Given the description of an element on the screen output the (x, y) to click on. 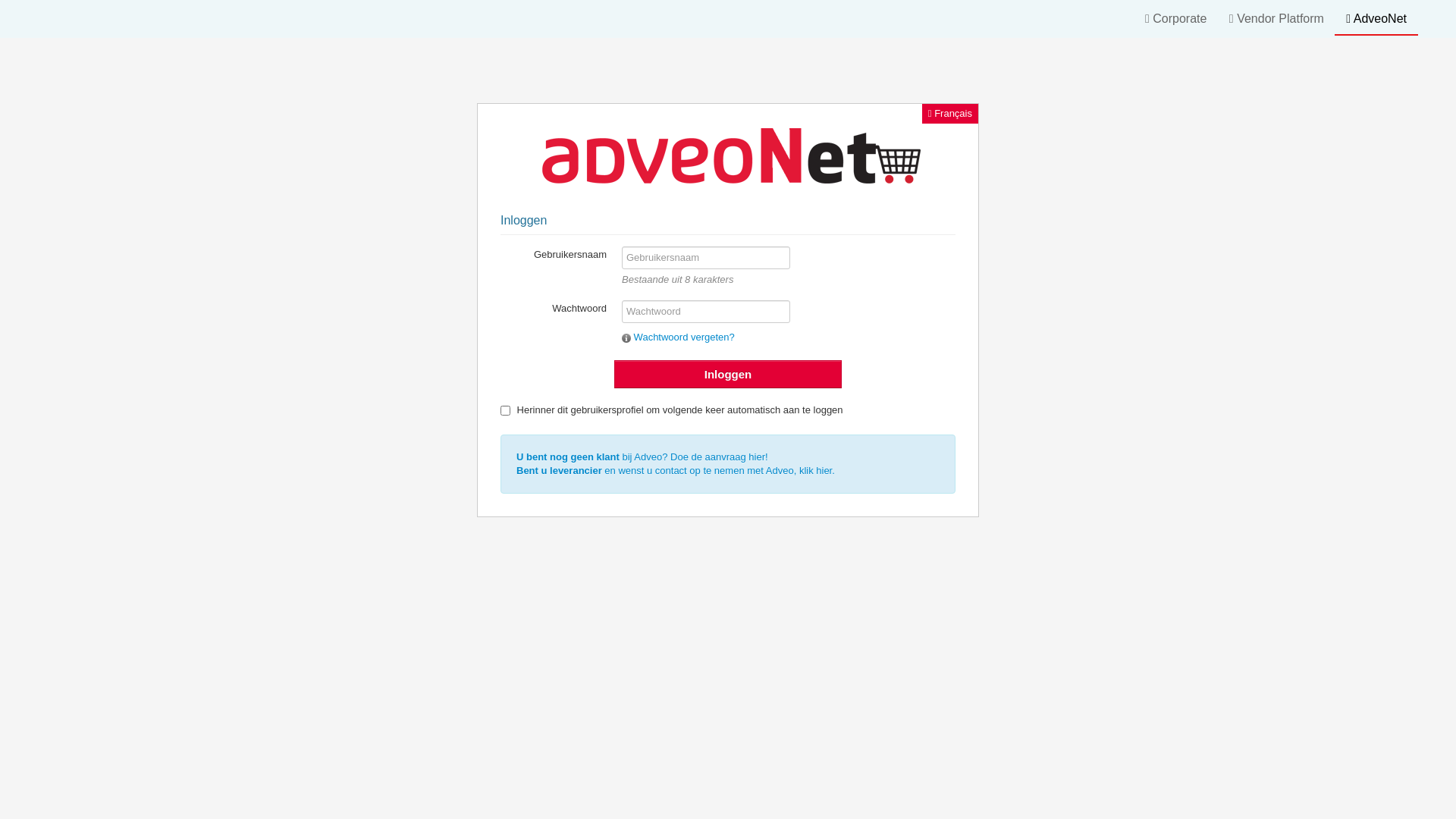
AdveoNet Element type: text (1376, 17)
Inloggen Element type: text (727, 374)
 Wachtwoord vergeten? Element type: text (788, 333)
Vendor Platform Element type: text (1276, 17)
U bent nog geen klant bij Adveo? Doe de aanvraag hier! Element type: text (642, 456)
Wachtwoord vergeten? Element type: hover (625, 337)
Corporate Element type: text (1177, 17)
